Given the description of an element on the screen output the (x, y) to click on. 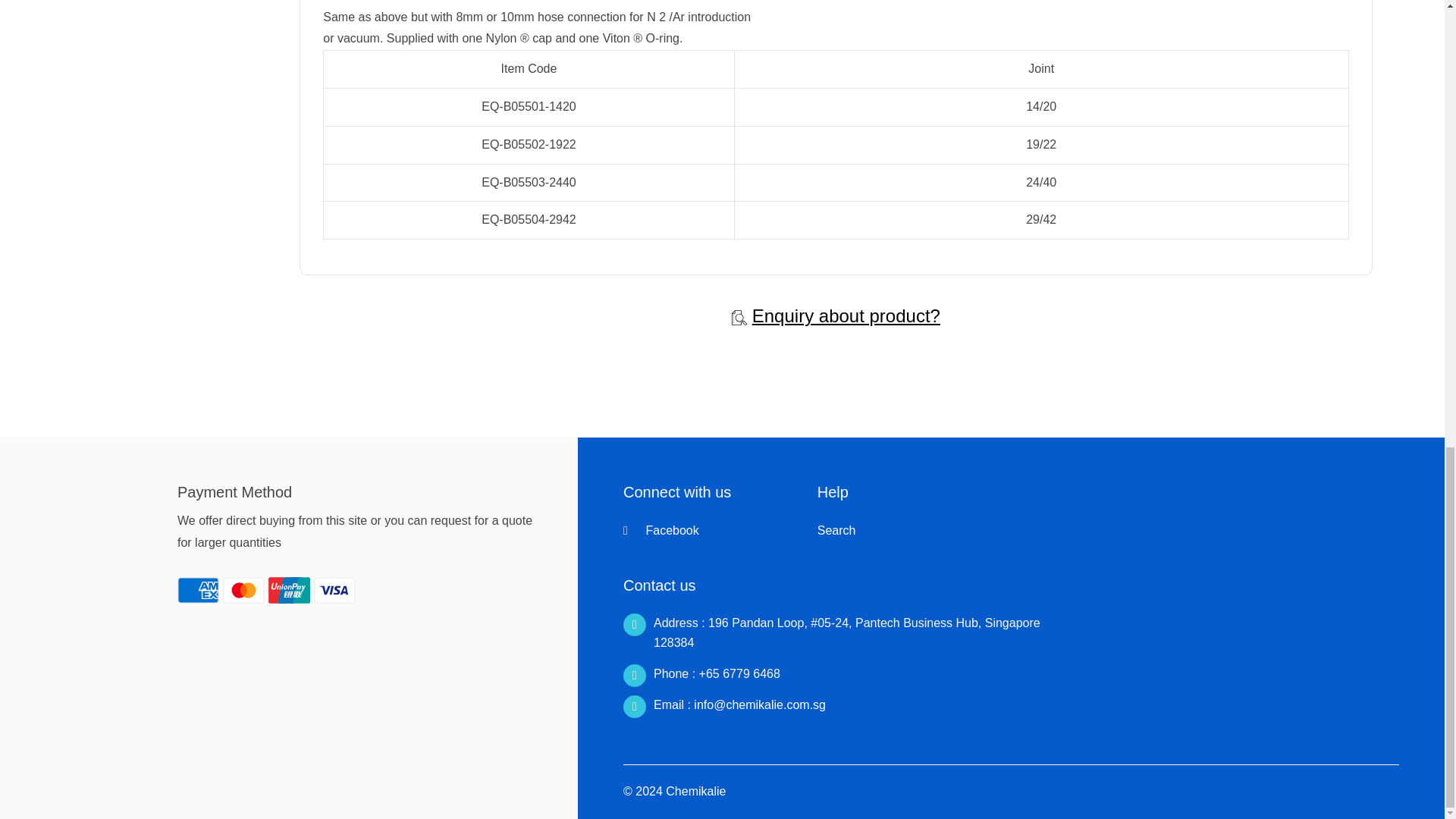
Union Pay (288, 589)
Visa (334, 589)
American Express (198, 589)
Mastercard (243, 589)
Facebook (660, 530)
